Given the description of an element on the screen output the (x, y) to click on. 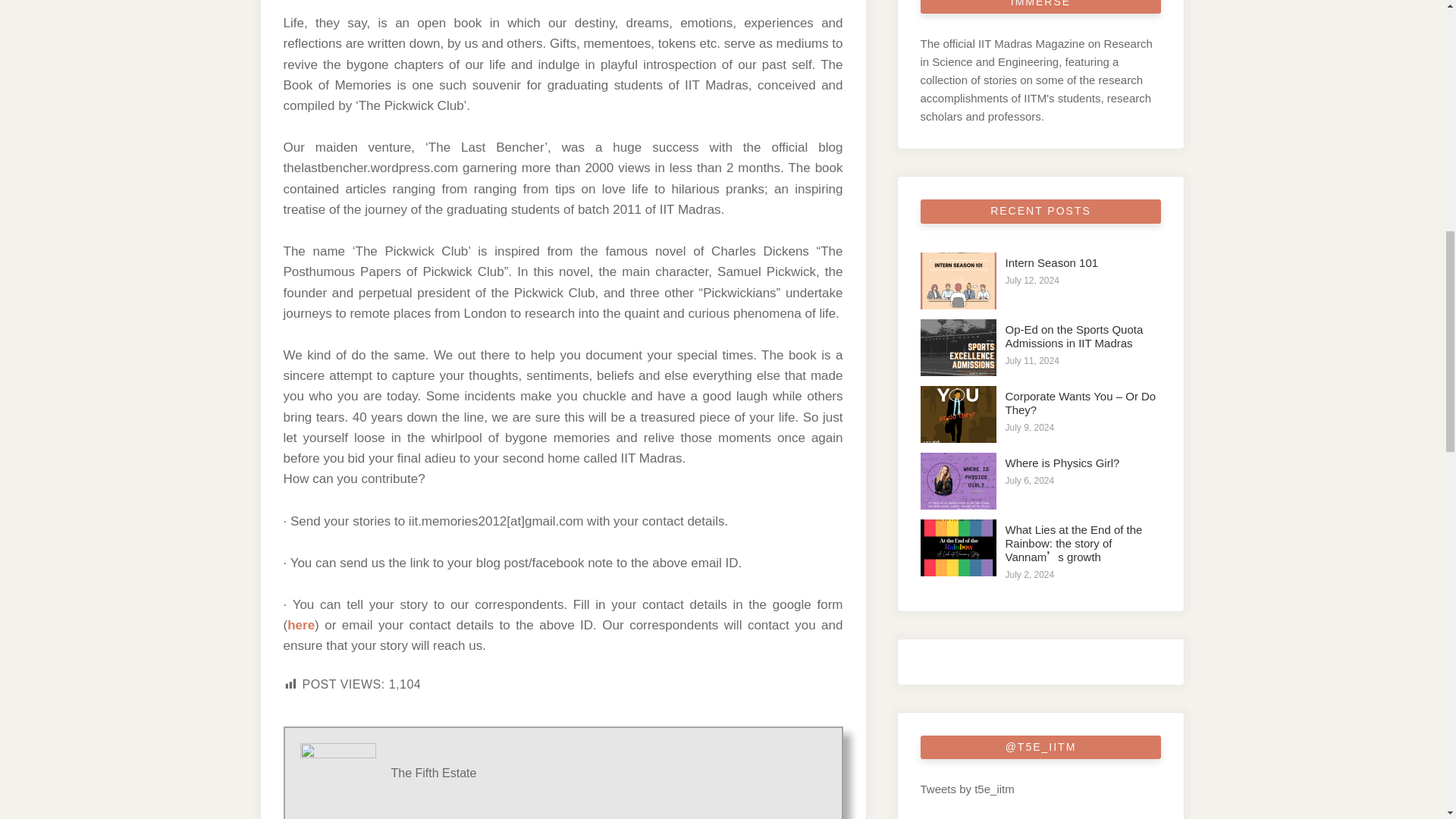
Where is Physics Girl? (957, 480)
Op-Ed on the Sports Quota Admissions in IIT Madras (957, 347)
here (300, 625)
Where is Physics Girl? (1062, 462)
The Fifth Estate (434, 772)
Intern Season 101 (1052, 262)
Intern Season 101 (957, 280)
Op-Ed on the Sports Quota Admissions in IIT Madras (1074, 335)
